Given the description of an element on the screen output the (x, y) to click on. 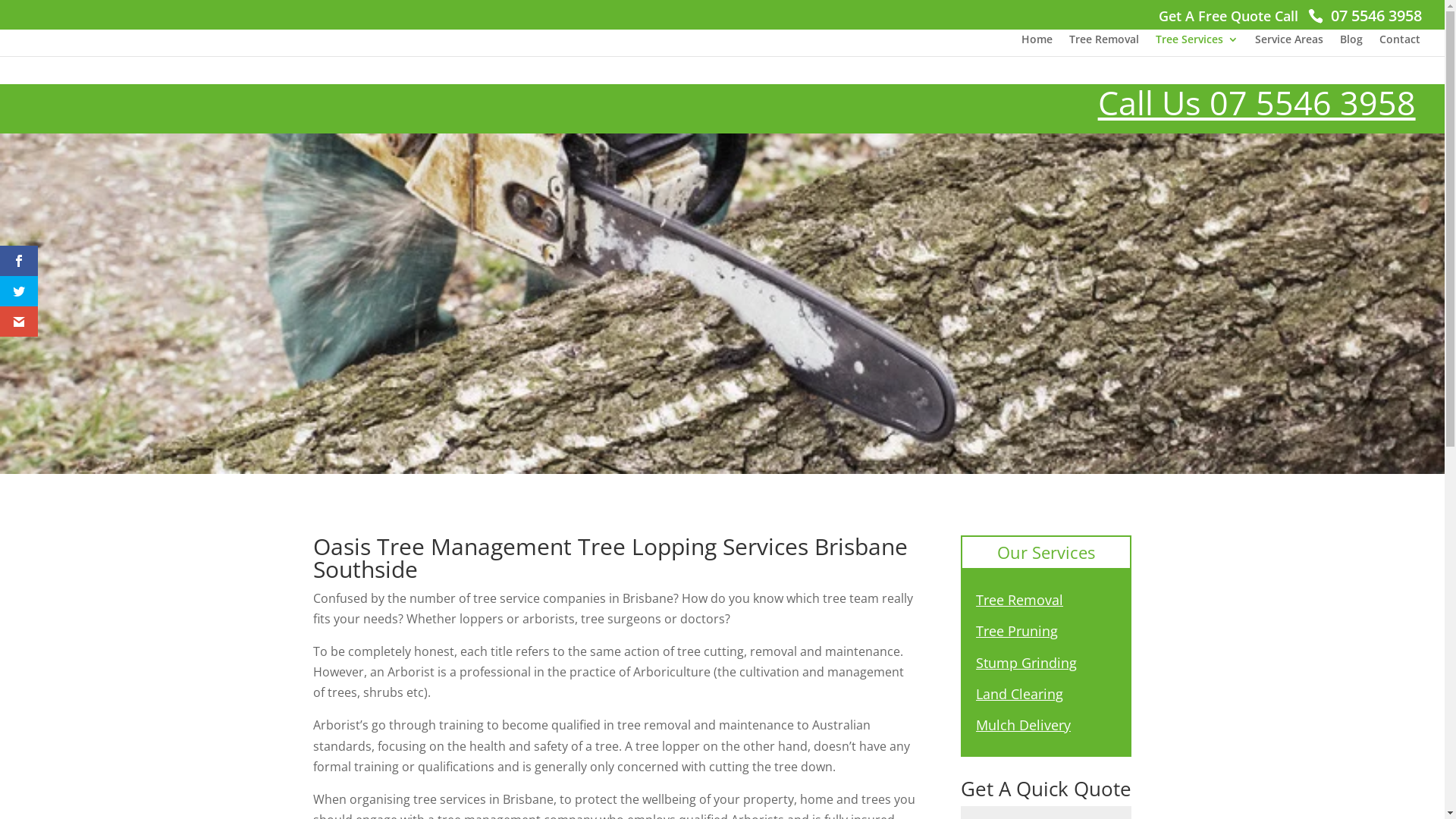
Call Us 07 5546 3958 Element type: text (1256, 102)
Tree Services Element type: text (1196, 45)
Mulch Delivery Element type: text (1022, 724)
Tree Removal Element type: text (1019, 599)
Tree Pruning Element type: text (1016, 630)
Service Areas Element type: text (1289, 45)
Home Element type: text (1036, 45)
Tree Removal Element type: text (1104, 45)
Land Clearing Element type: text (1019, 693)
Contact Element type: text (1399, 45)
Blog Element type: text (1350, 45)
Stump Grinding Element type: text (1025, 662)
